Given the description of an element on the screen output the (x, y) to click on. 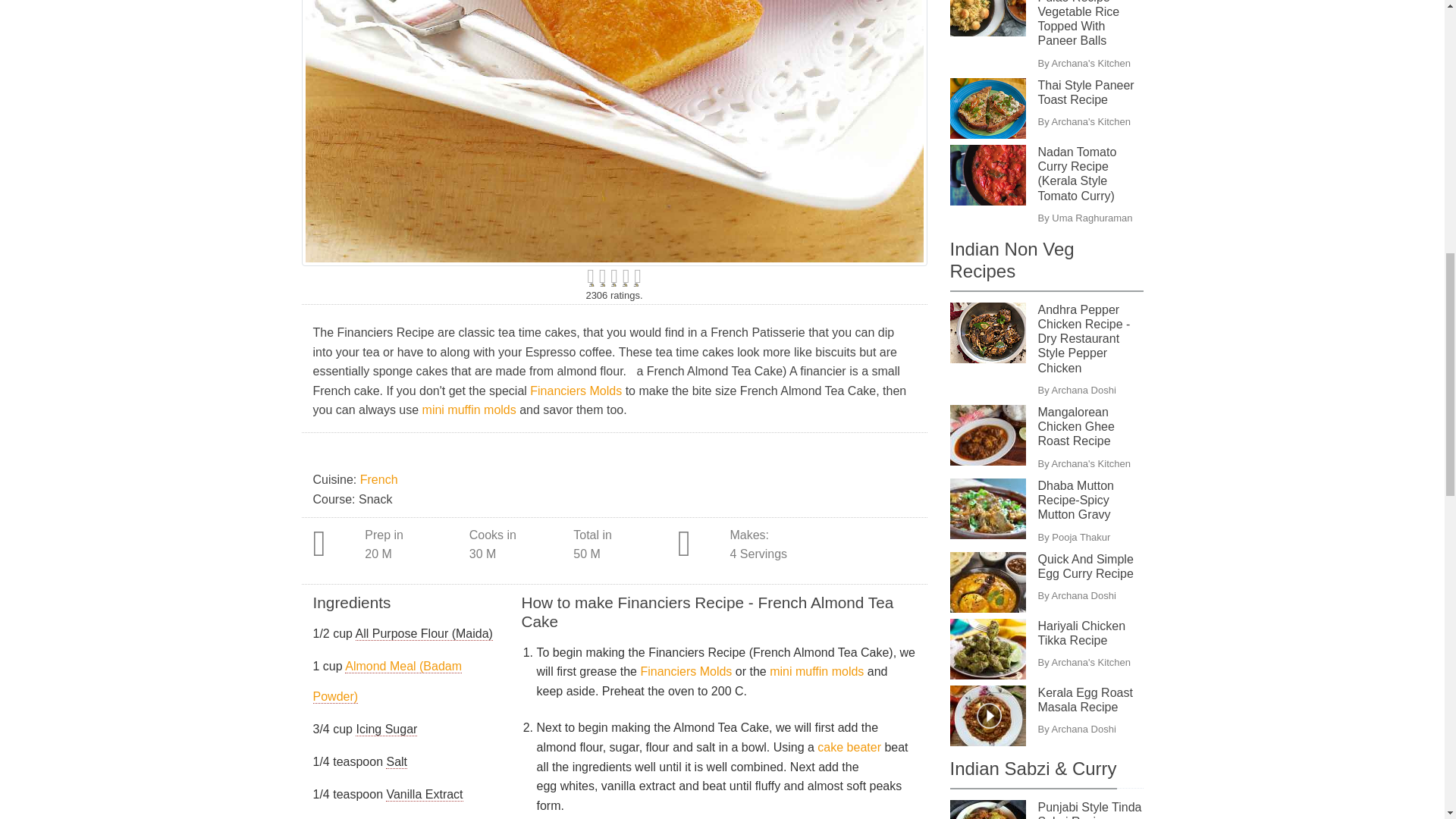
Five Stars (614, 276)
Financiers Molds (686, 671)
Financiers Molds (575, 390)
French (378, 479)
mini muffin molds (469, 409)
cake beater (848, 747)
mini muffin molds (816, 671)
